Given the description of an element on the screen output the (x, y) to click on. 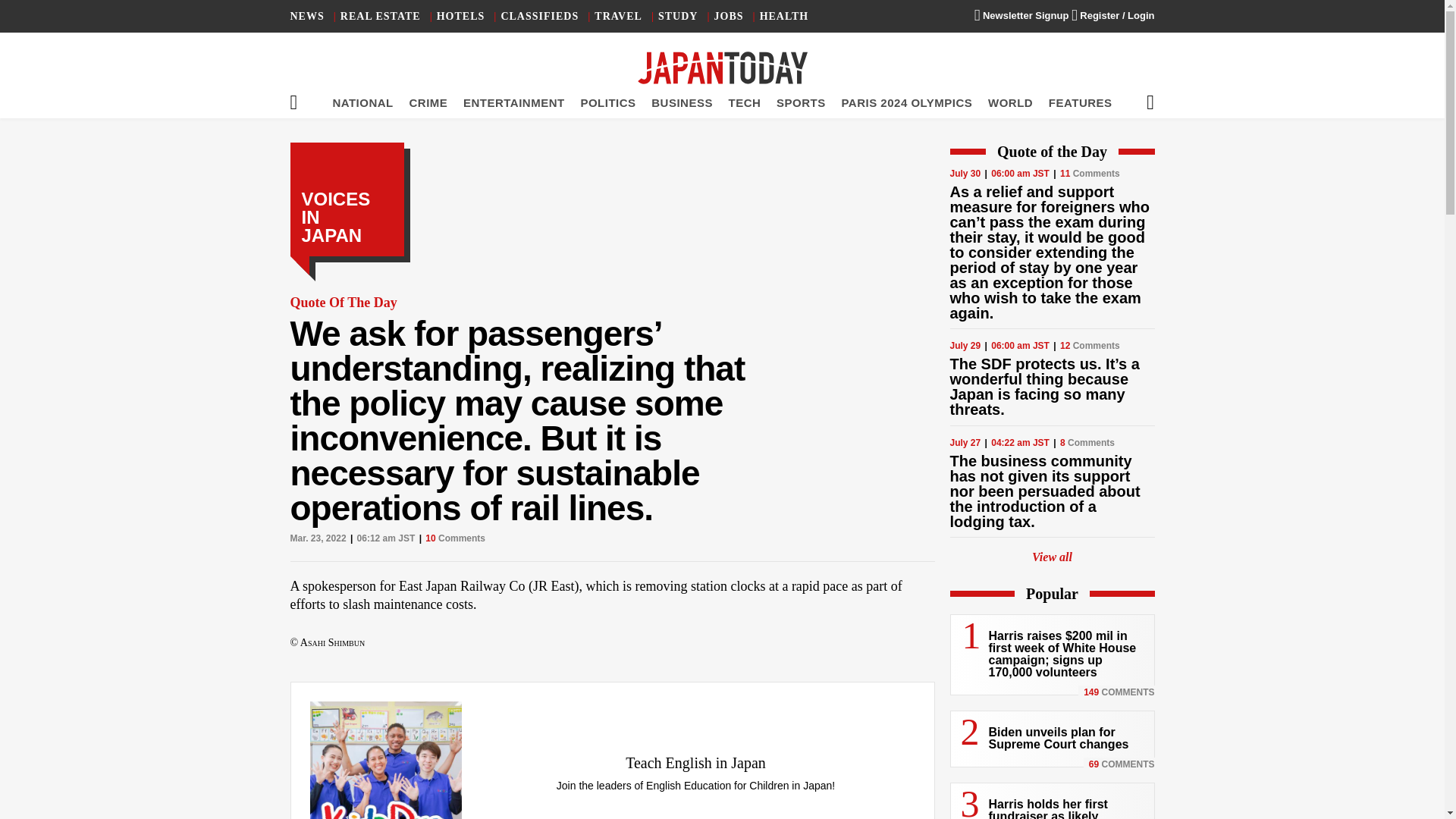
Newsletter Signup (1021, 15)
CLASSIFIEDS (539, 16)
NEWS (306, 16)
STUDY (677, 16)
Japan Today (721, 67)
SPORTS (800, 102)
BUSINESS (681, 102)
Japan Today (721, 67)
TRAVEL (618, 16)
HOTELS (460, 16)
NATIONAL (362, 102)
REAL ESTATE (380, 16)
CRIME (427, 102)
